Given the description of an element on the screen output the (x, y) to click on. 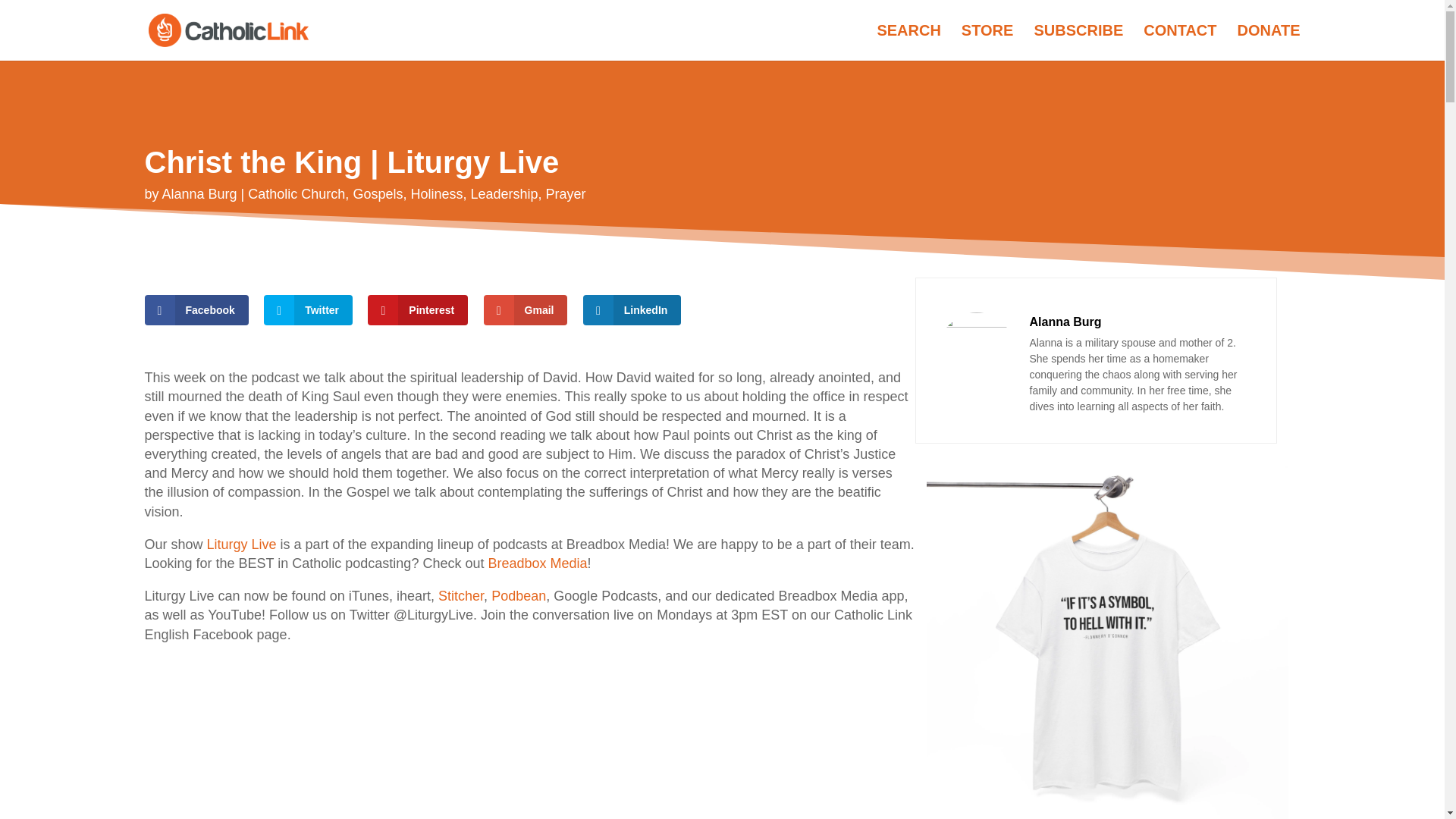
Posts by Alanna Burg (199, 193)
Gmail (525, 309)
DONATE (1268, 42)
SEARCH (908, 42)
STORE (986, 42)
SUBSCRIBE (1077, 42)
Breadbox Media (536, 563)
Gospels (377, 193)
Leadership (503, 193)
Catholic Church (296, 193)
